Given the description of an element on the screen output the (x, y) to click on. 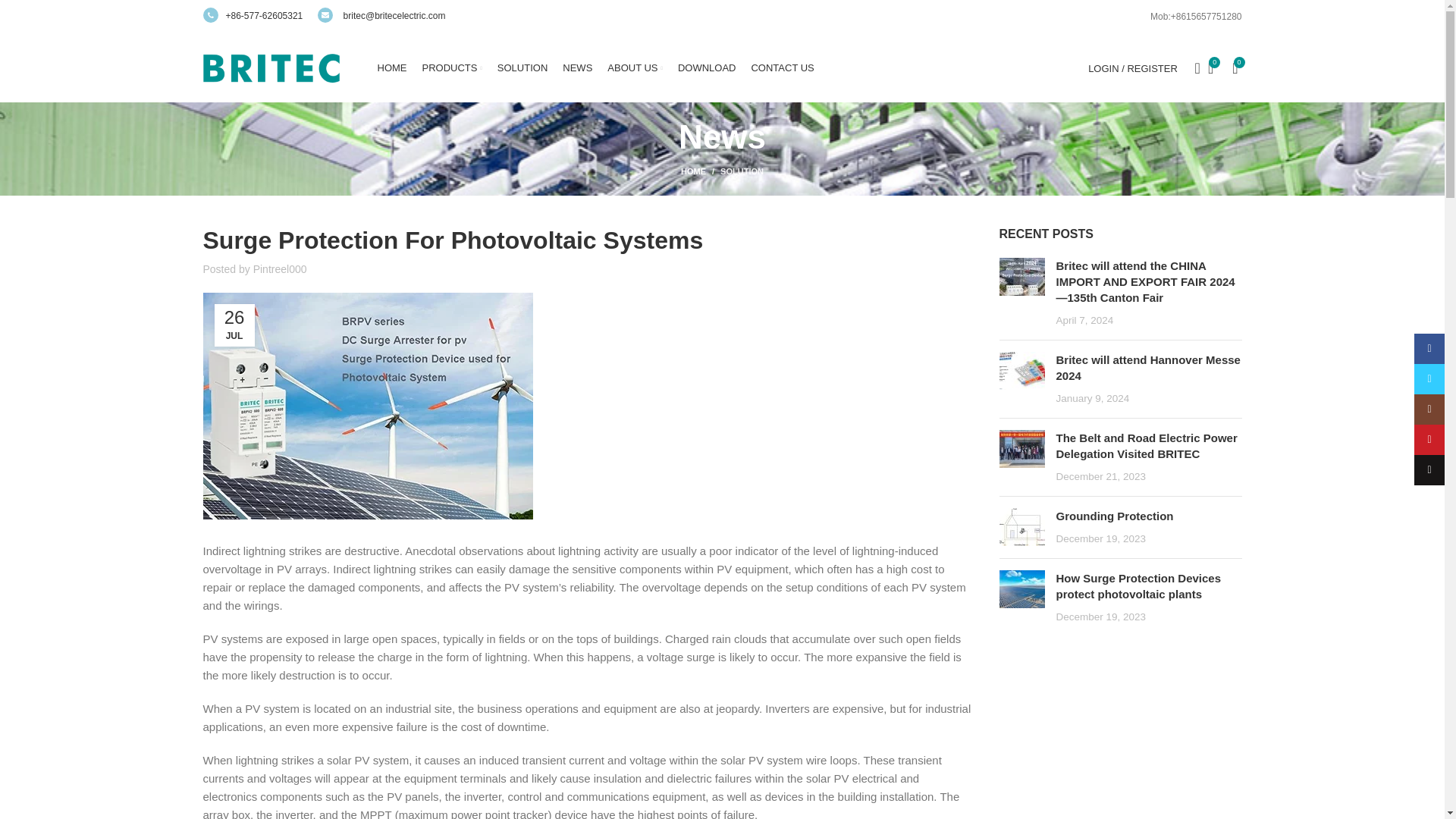
Permalink to Britec will attend Hannover Messe 2024 (1147, 367)
SOLUTION (741, 171)
My account (1132, 68)
CONTACT US (782, 68)
SOLUTION (522, 68)
Permalink to Grounding Protection (1114, 515)
NEWS (577, 68)
Pintreel000 (280, 268)
ABOUT US (634, 68)
PRODUCTS (451, 68)
